Given the description of an element on the screen output the (x, y) to click on. 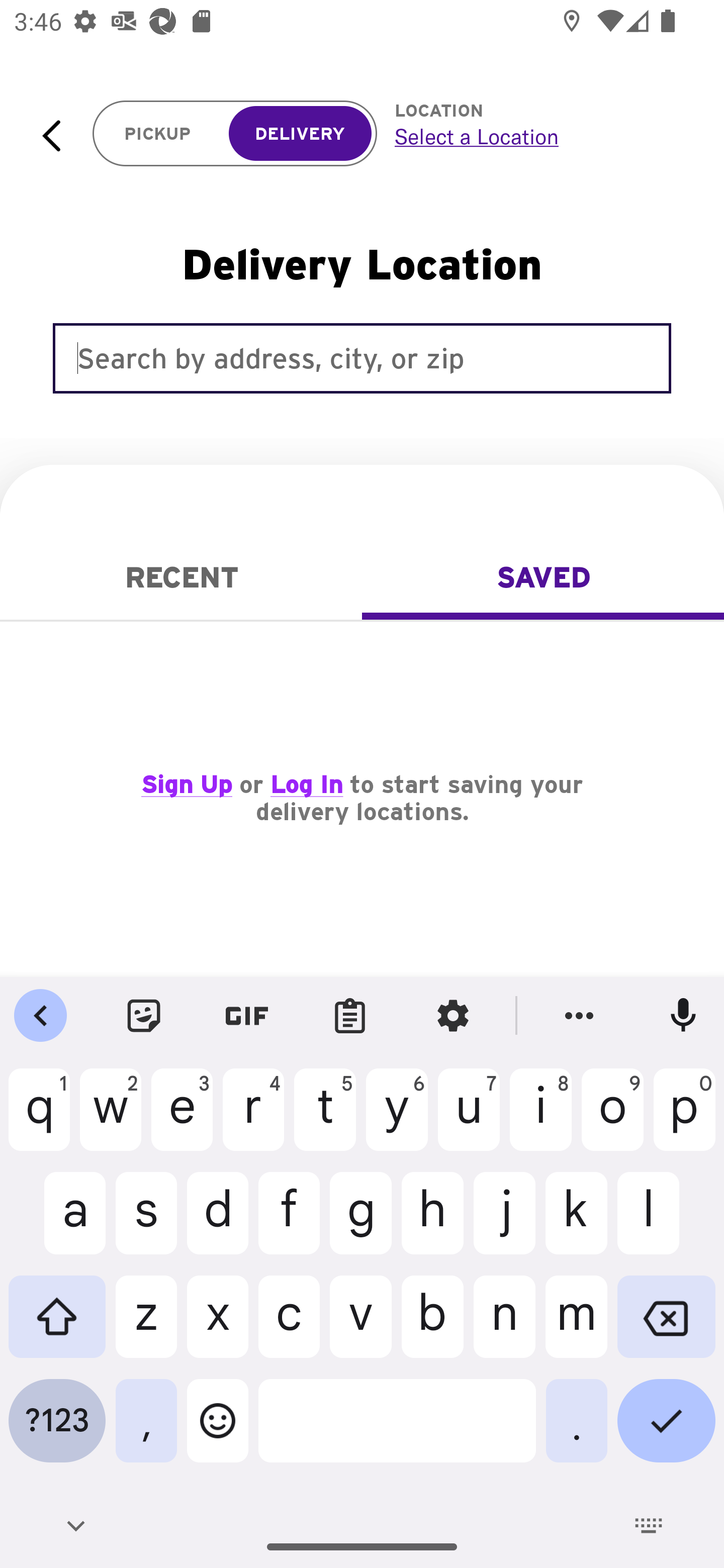
PICKUP (157, 133)
DELIVERY (299, 133)
Select a Location (536, 136)
Search by address, city, or zip (361, 358)
Recent RECENT (181, 576)
